Given the description of an element on the screen output the (x, y) to click on. 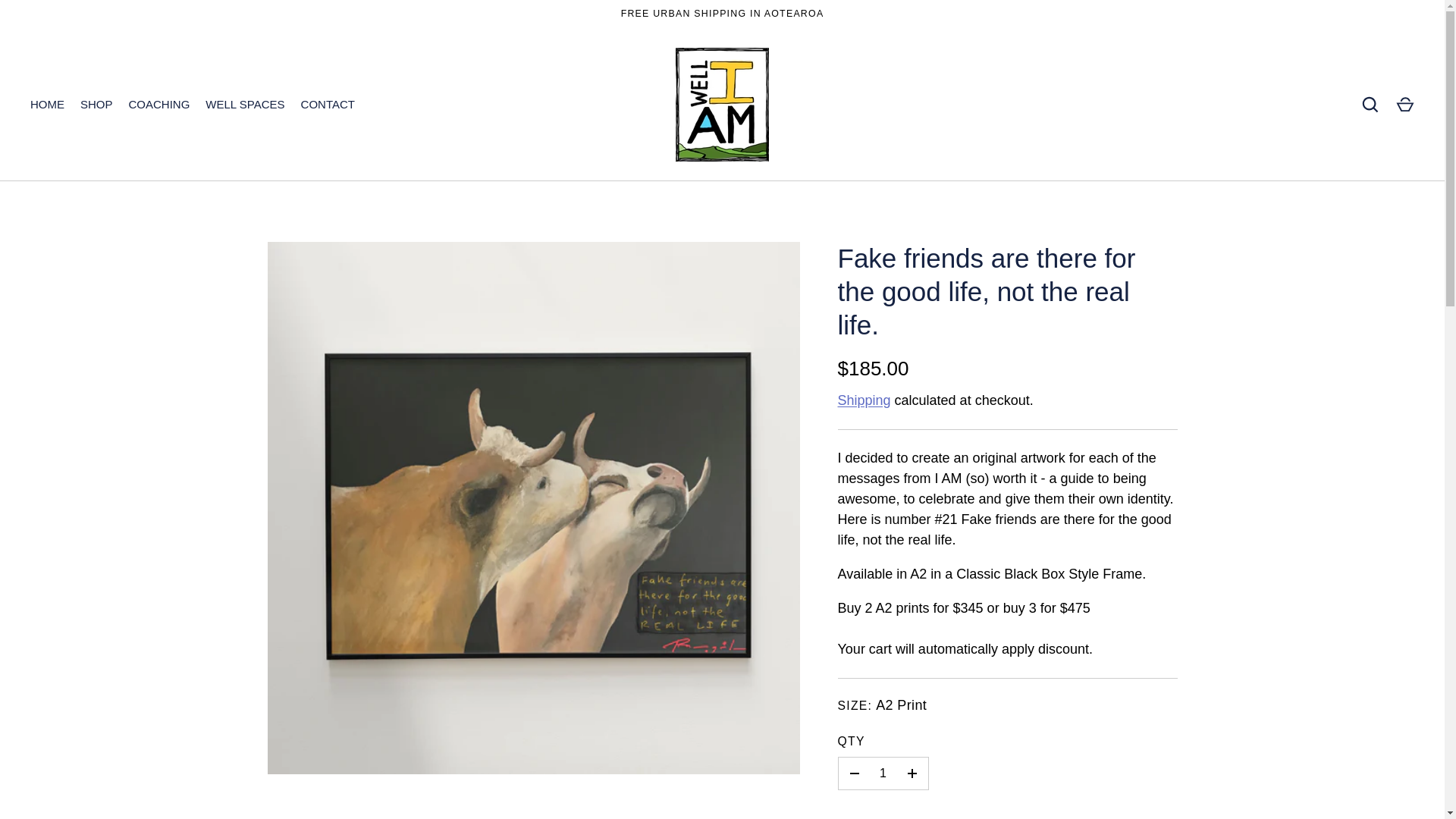
1 (883, 773)
HOME (47, 104)
SHOP (96, 104)
WELL SPACES (245, 104)
COACHING (159, 104)
CONTACT (327, 104)
